Given the description of an element on the screen output the (x, y) to click on. 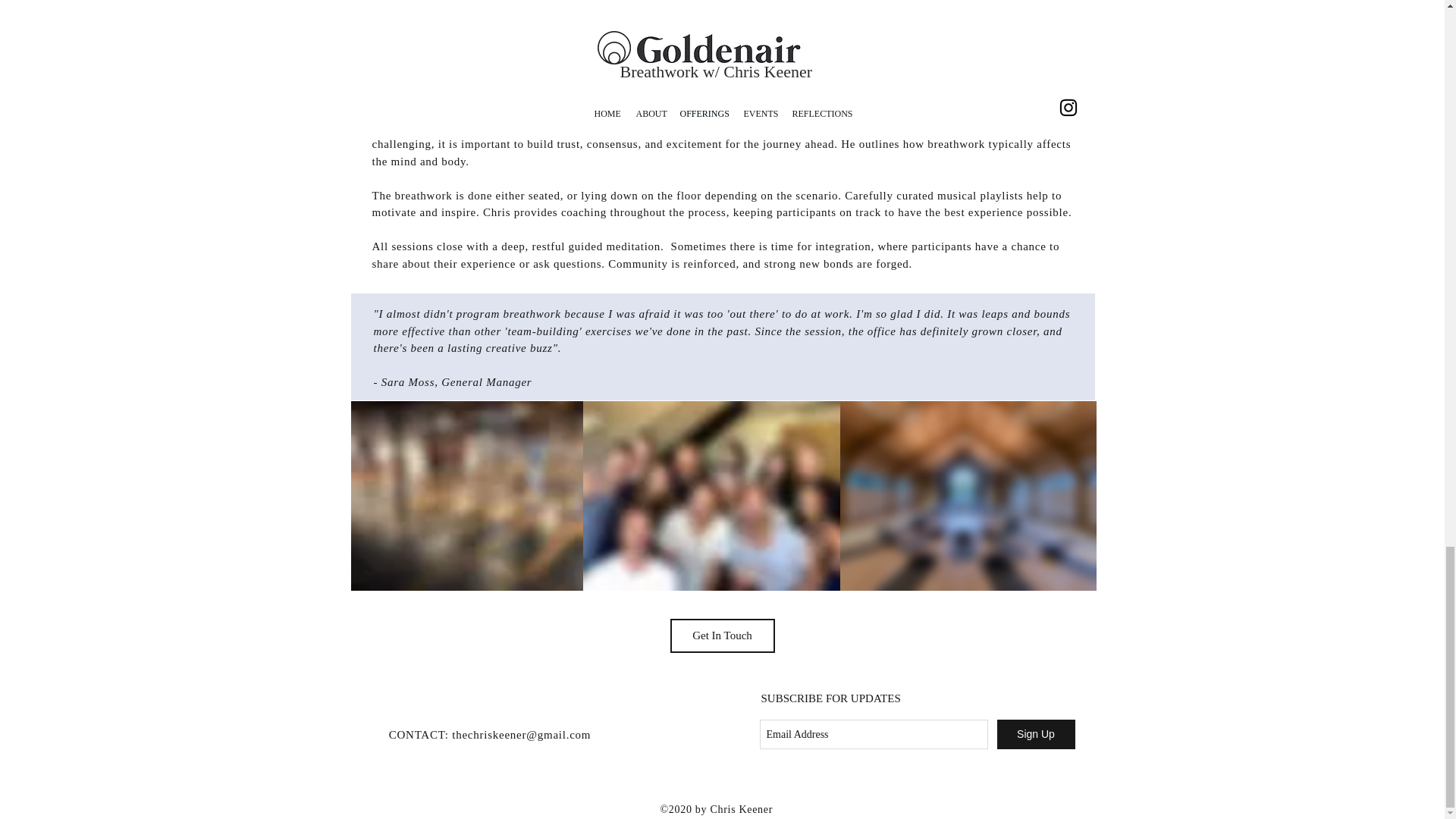
Sign Up (1034, 733)
Get In Touch (721, 635)
